Given the description of an element on the screen output the (x, y) to click on. 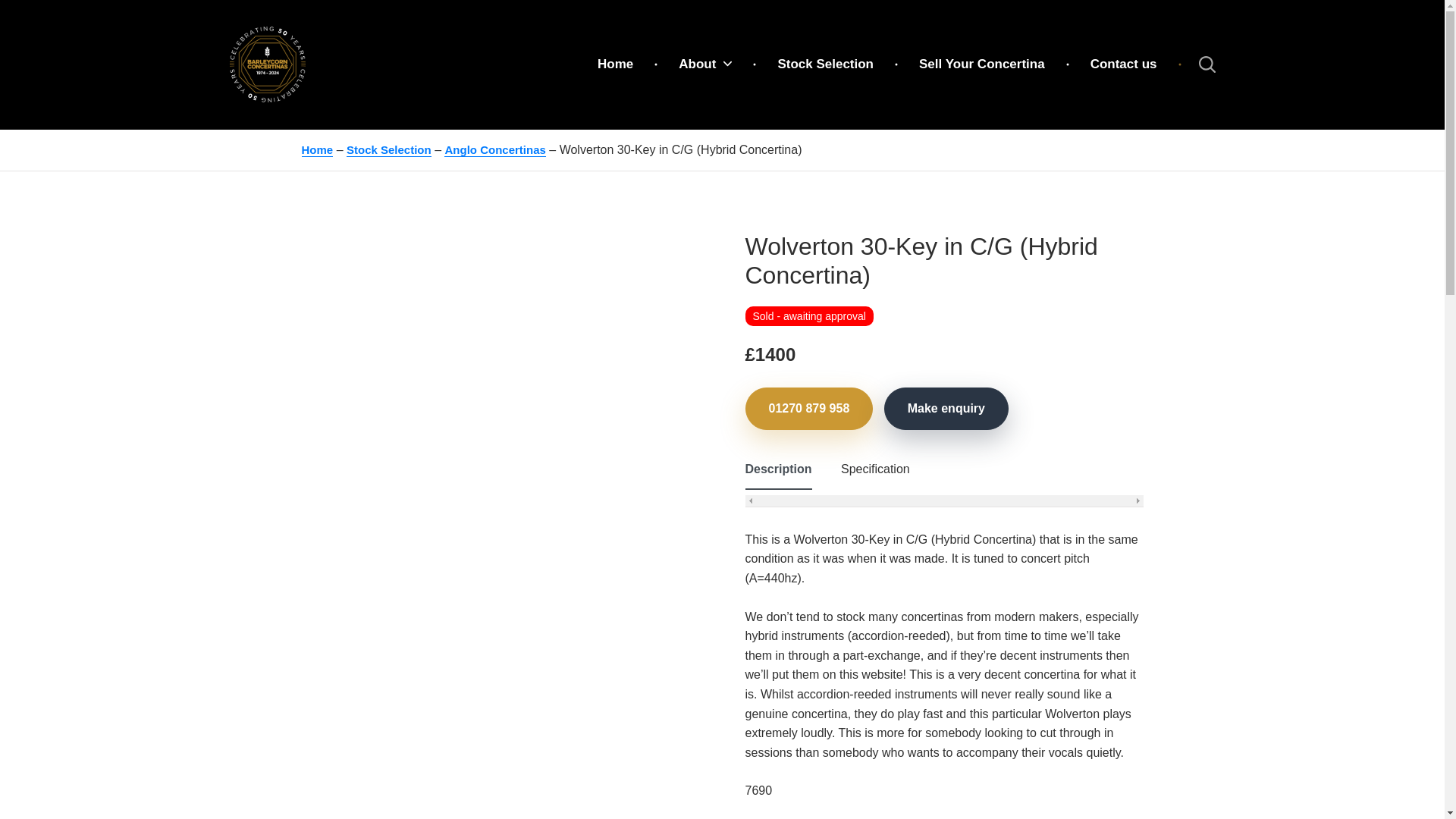
Home (615, 63)
Description (777, 468)
Stock Selection (825, 63)
01270 879 958 (808, 408)
Contact us (1123, 63)
Sell Your Concertina (981, 63)
Stock Selection (388, 150)
Anglo Concertinas (494, 150)
Search (1197, 63)
Specification (875, 468)
